Given the description of an element on the screen output the (x, y) to click on. 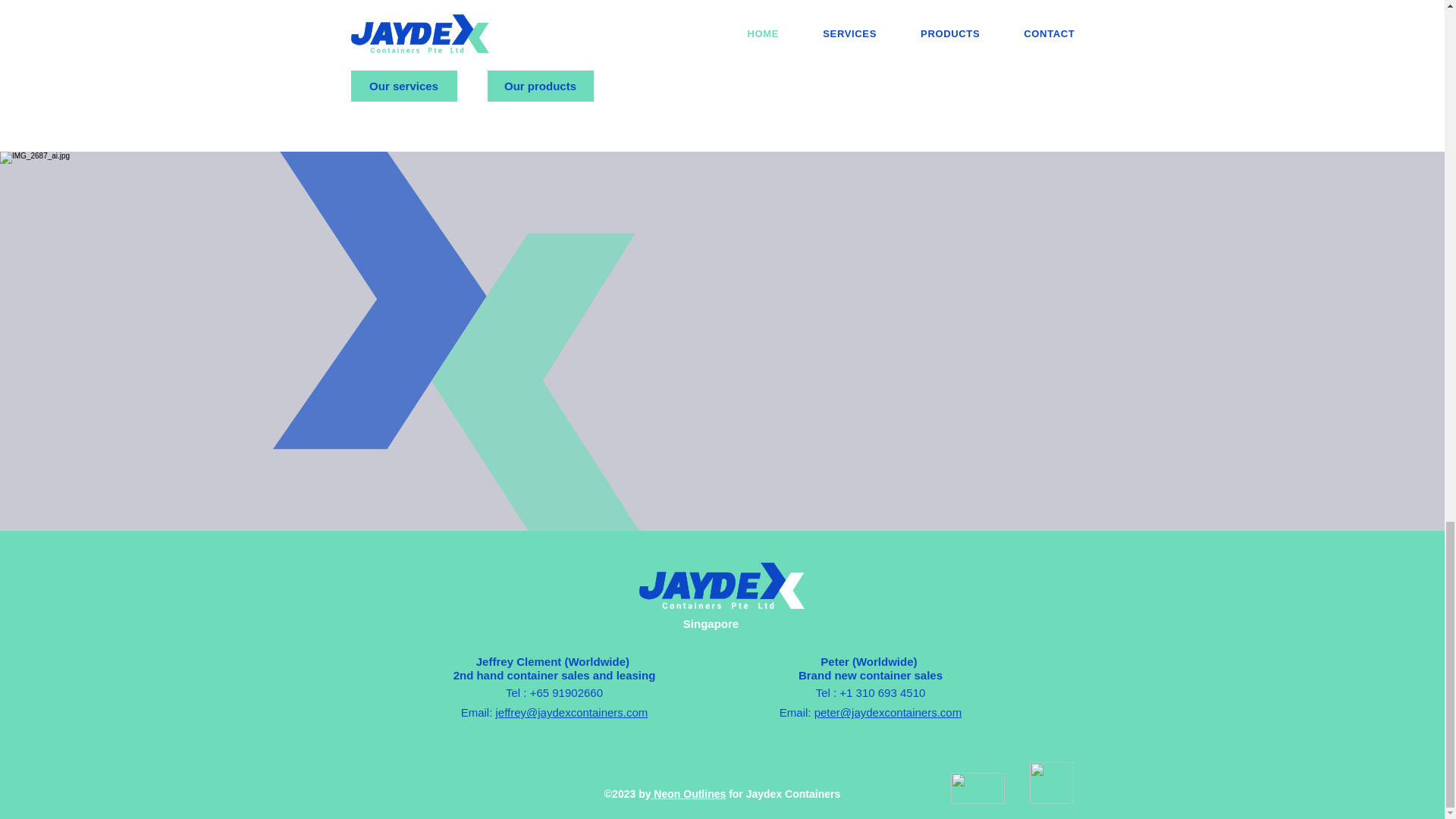
Our products (539, 85)
Our services (403, 85)
Neon Outlines (687, 793)
